Given the description of an element on the screen output the (x, y) to click on. 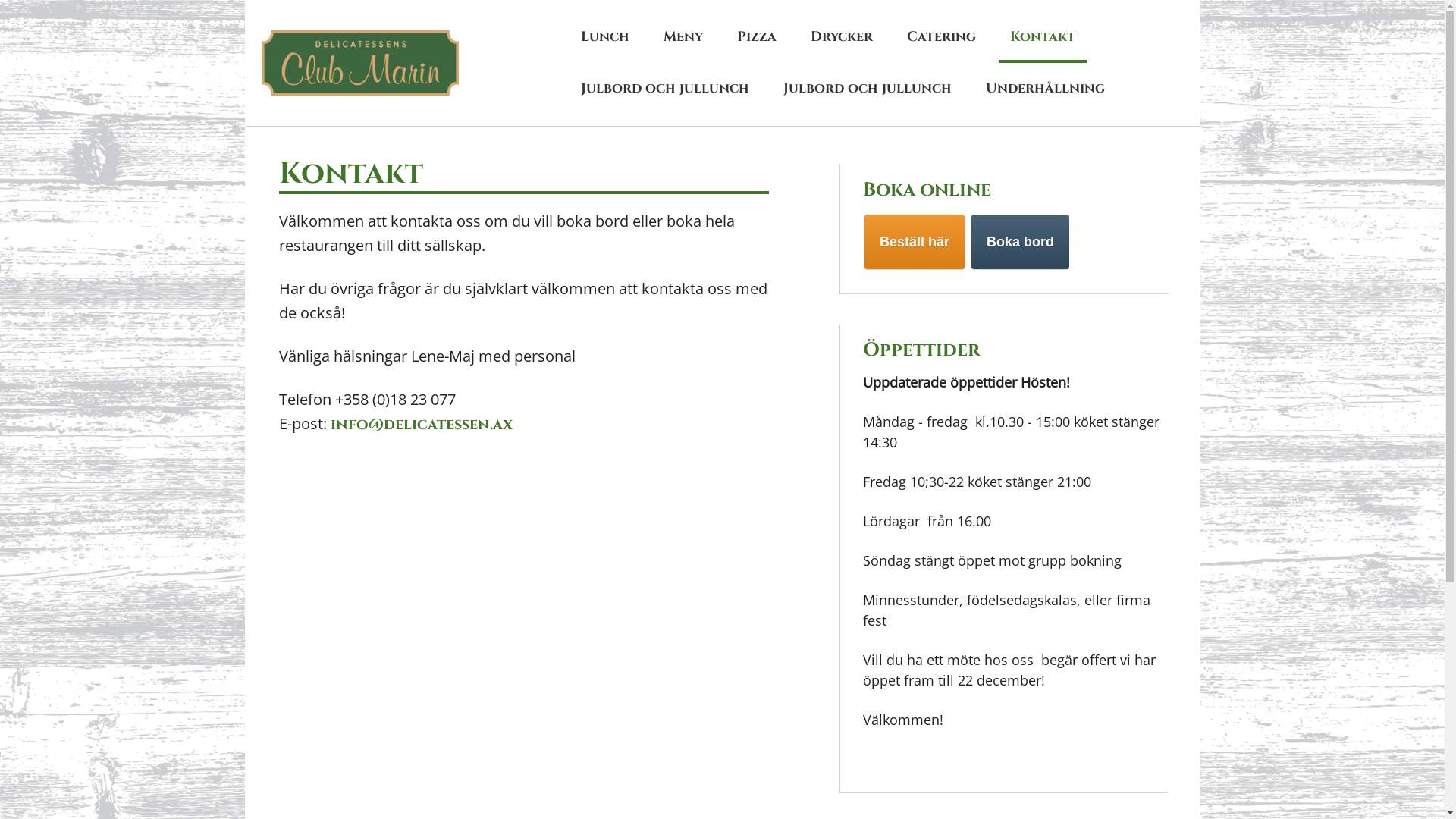
Julbord och jullunch Element type: text (664, 88)
Meny Element type: text (683, 36)
Julbord och jullunch Element type: text (867, 88)
Kontakt Element type: text (1042, 36)
Catering Element type: text (941, 36)
Pizza Element type: text (756, 36)
info@delicatessen.ax Element type: text (421, 424)
Lunch Element type: text (604, 36)
Drycker Element type: text (841, 36)
Hem Element type: hover (367, 62)
